Given the description of an element on the screen output the (x, y) to click on. 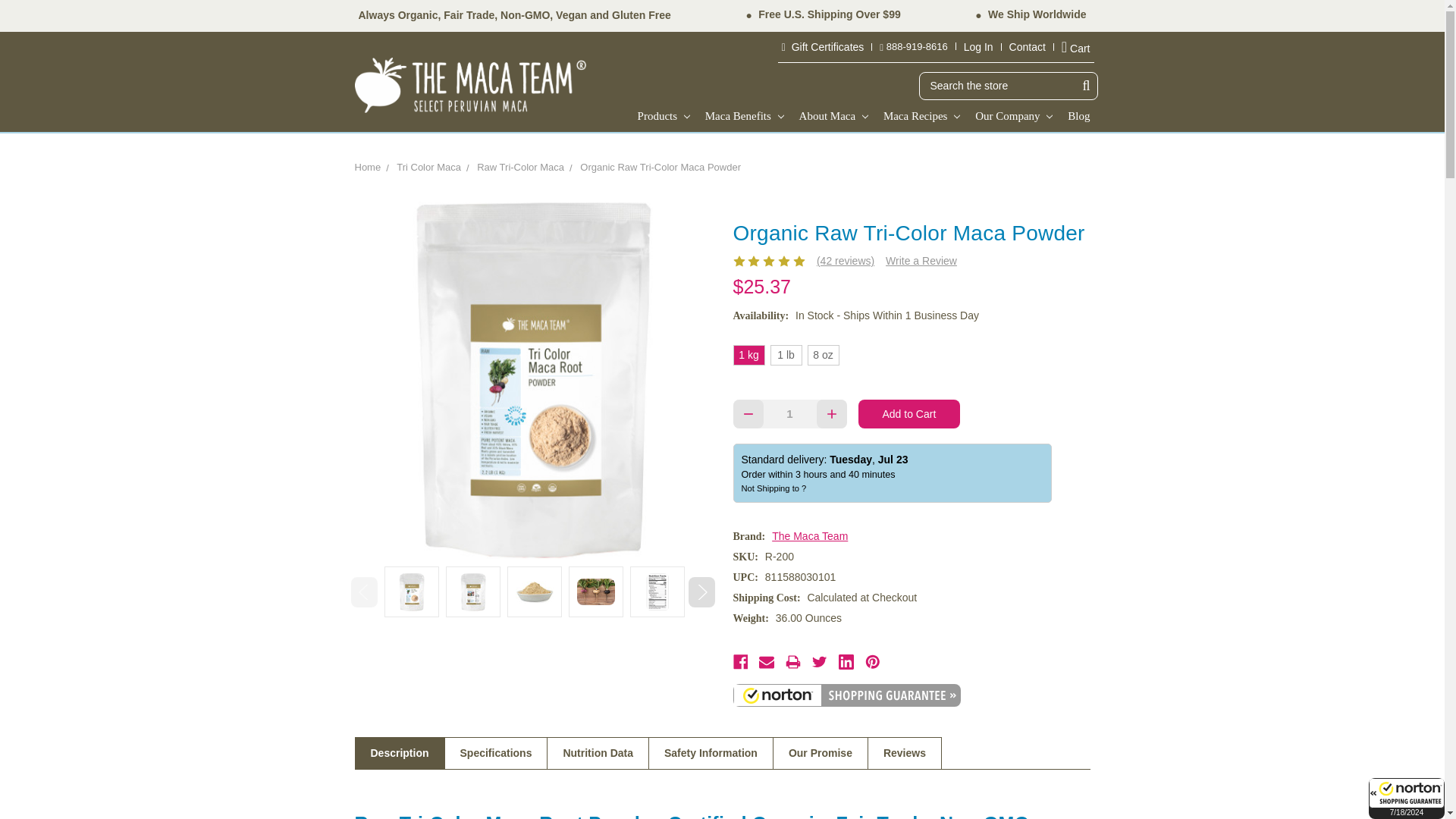
 888-919-8616 (917, 45)
The Maca Team, LLC (470, 85)
Log In (982, 45)
  Gift Certificates (826, 45)
Cart (1076, 46)
1 (788, 413)
Contact (1032, 45)
Maca Benefits (744, 115)
Products (663, 115)
We Ship Worldwide (1037, 14)
Maca Benefits (744, 115)
Add to Cart (909, 413)
